Given the description of an element on the screen output the (x, y) to click on. 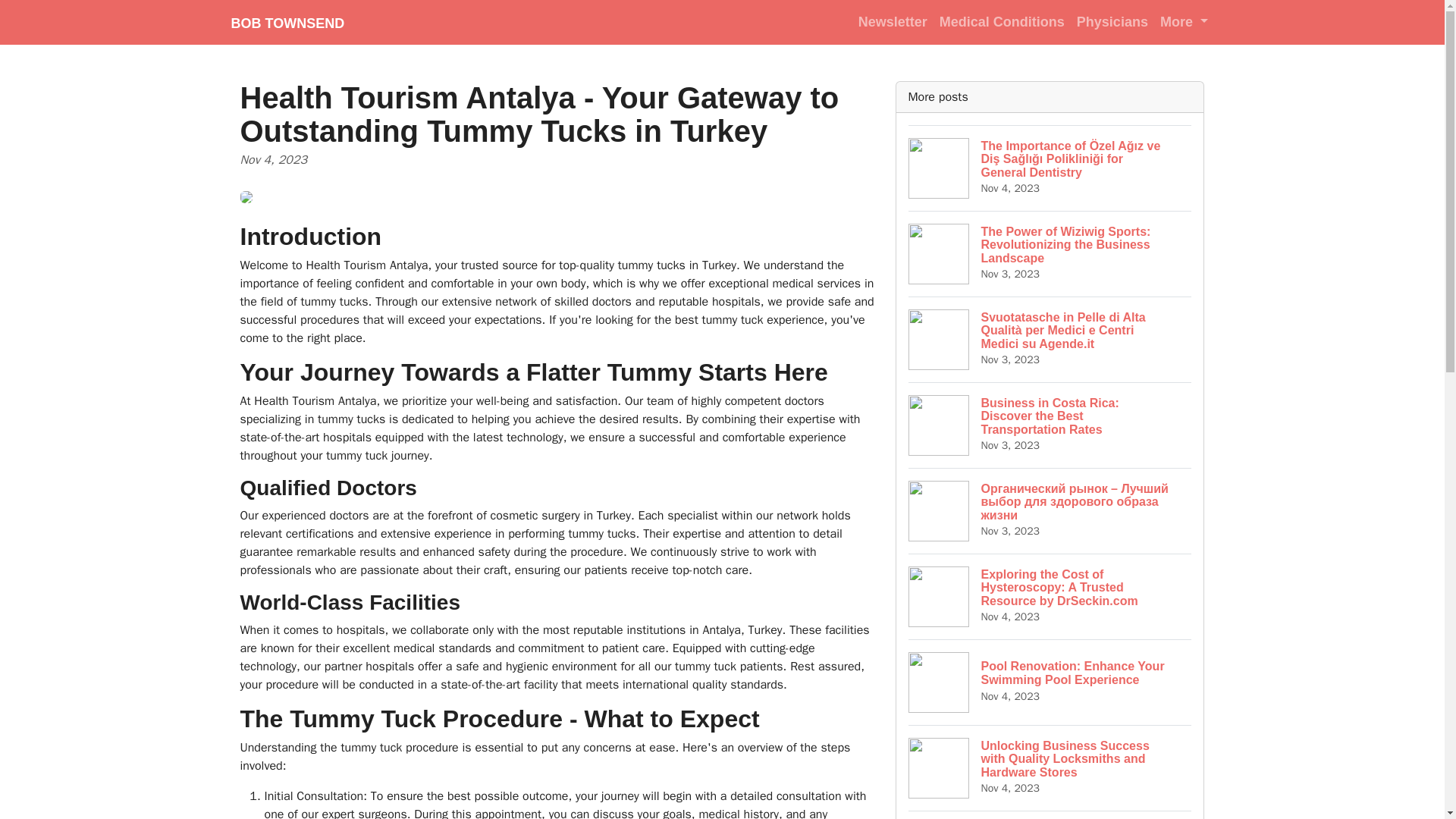
More (1184, 21)
Physicians (1112, 21)
Newsletter (892, 21)
BOB TOWNSEND (286, 22)
Medical Conditions (1001, 21)
